Given the description of an element on the screen output the (x, y) to click on. 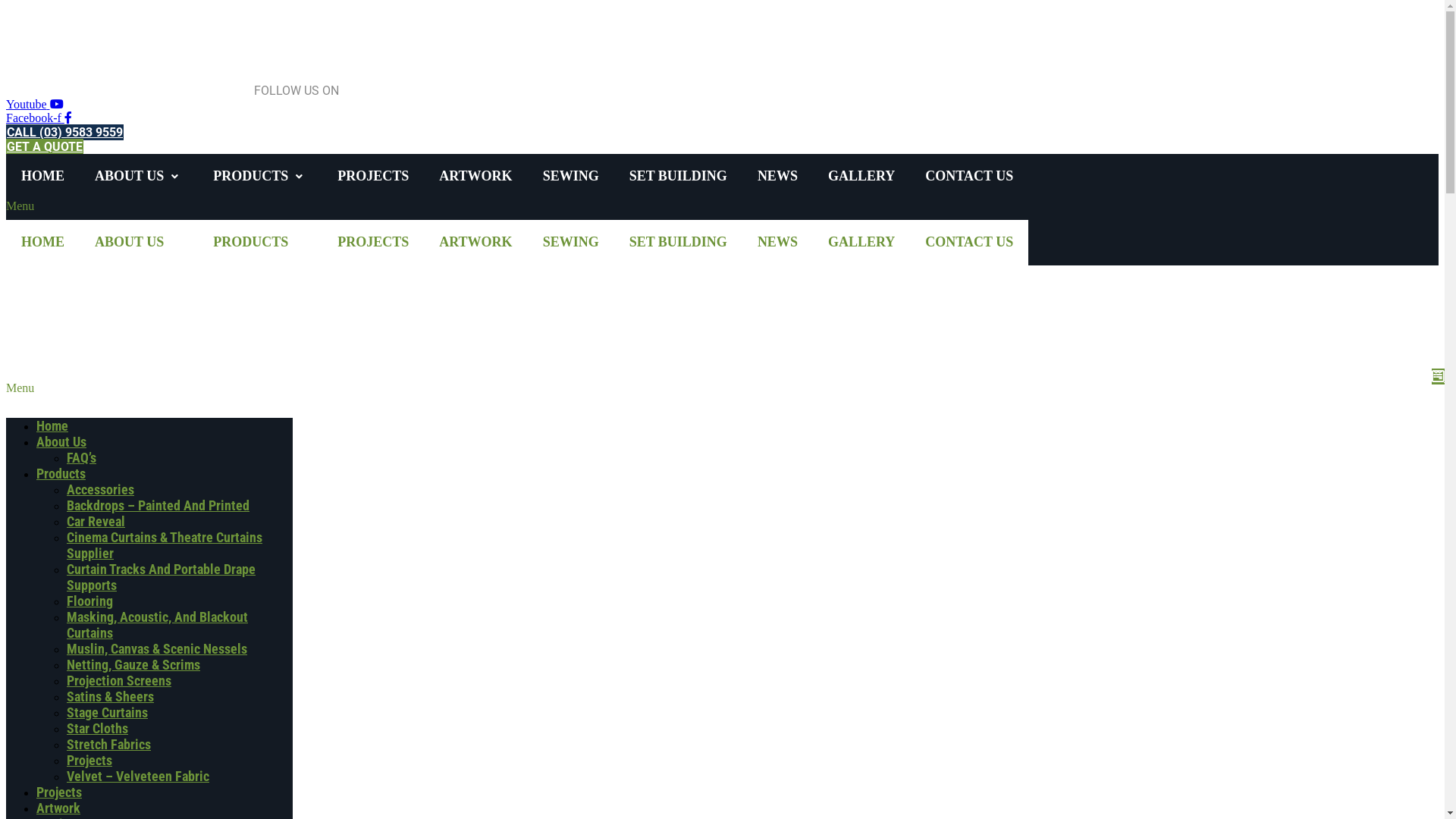
PRODUCTS Element type: text (252, 242)
CONTACT US Element type: text (969, 176)
SET BUILDING Element type: text (678, 242)
CALL (03) 9583 9559 Element type: text (64, 132)
Car Reveal Element type: text (95, 521)
Accessories Element type: text (100, 489)
Projection Screens Element type: text (118, 680)
Curtain Tracks And Portable Drape Supports Element type: text (160, 577)
GALLERY Element type: text (861, 242)
Stretch Fabrics Element type: text (108, 744)
PRODUCTS Element type: text (252, 176)
Facebook-f Element type: text (39, 117)
ABOUT US Element type: text (130, 176)
SET BUILDING Element type: text (678, 176)
PROJECTS Element type: text (372, 242)
ARTWORK Element type: text (475, 242)
Projects Element type: text (58, 792)
Star Cloths Element type: text (97, 728)
NEWS Element type: text (777, 176)
HOME Element type: text (42, 176)
Products Element type: text (60, 473)
Netting, Gauze & Scrims Element type: text (133, 664)
Flooring Element type: text (89, 600)
Projects Element type: text (89, 760)
Youtube Element type: text (34, 103)
GALLERY Element type: text (861, 176)
HOME Element type: text (42, 242)
CONTACT US Element type: text (969, 242)
Artwork Element type: text (58, 807)
ARTWORK Element type: text (475, 176)
PROJECTS Element type: text (372, 176)
GET A QUOTE Element type: text (44, 146)
Home Element type: text (52, 425)
Stage Curtains Element type: text (106, 712)
Masking, Acoustic, And Blackout Curtains Element type: text (156, 624)
SEWING Element type: text (570, 176)
Satins & Sheers Element type: text (109, 696)
SEWING Element type: text (570, 242)
ABOUT US Element type: text (130, 242)
Cinema Curtains & Theatre Curtains Supplier Element type: text (164, 545)
NEWS Element type: text (777, 242)
About Us Element type: text (61, 441)
Muslin, Canvas & Scenic Nessels Element type: text (156, 648)
